Given the description of an element on the screen output the (x, y) to click on. 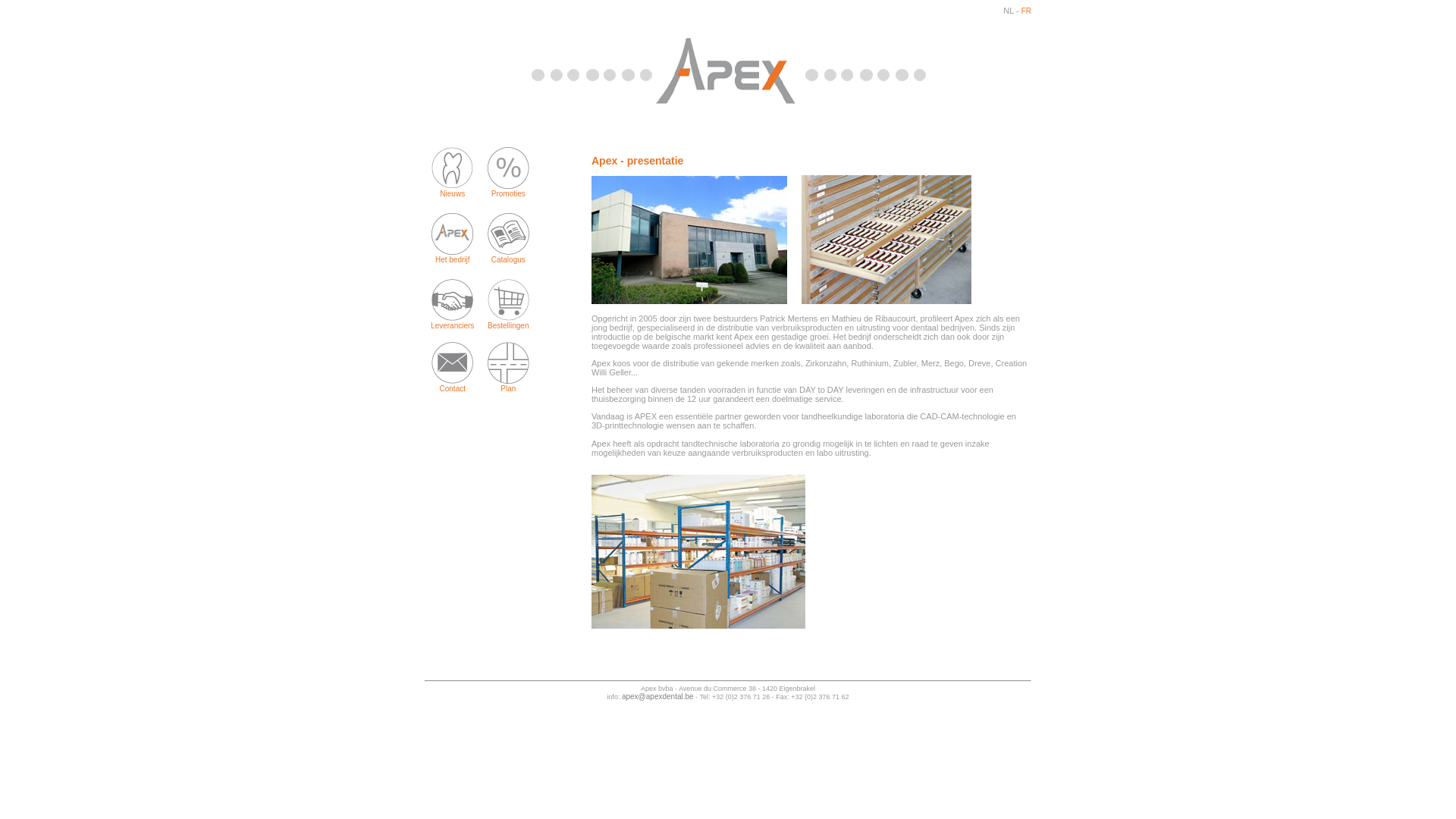
Leveranciers Element type: text (451, 325)
Het bedrijf Element type: text (452, 258)
apex@apexdental.be Element type: text (657, 696)
Contact Element type: text (452, 388)
Bestellingen Element type: text (507, 325)
FR Element type: text (1026, 10)
Nieuws Element type: text (451, 193)
Promoties Element type: text (508, 193)
Catalogus Element type: text (508, 258)
Plan Element type: text (507, 388)
